Given the description of an element on the screen output the (x, y) to click on. 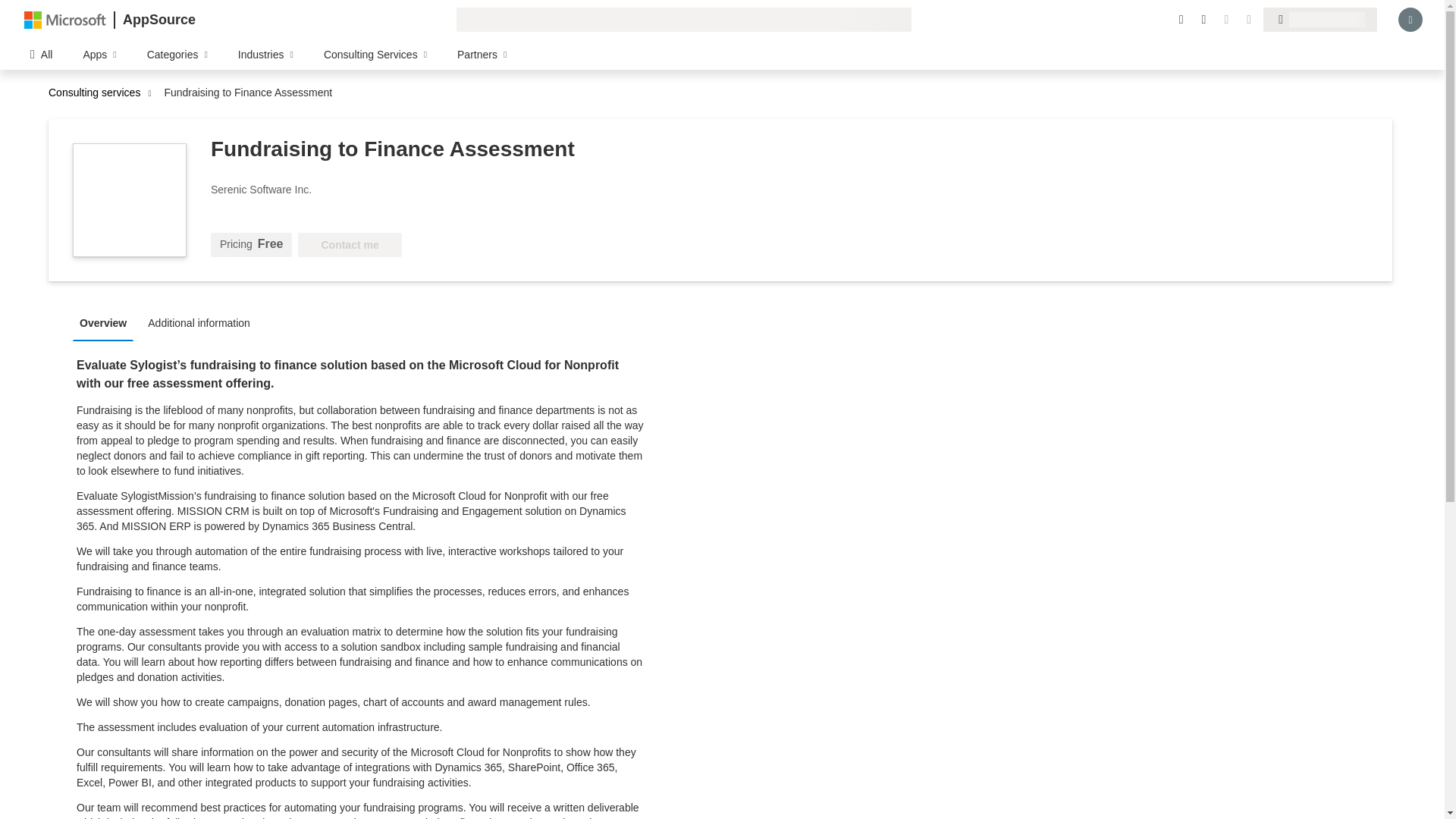
AppSource (158, 19)
Microsoft (65, 18)
Overview (106, 322)
Contact me (349, 244)
Consulting services (98, 92)
Additional information (202, 322)
